Given the description of an element on the screen output the (x, y) to click on. 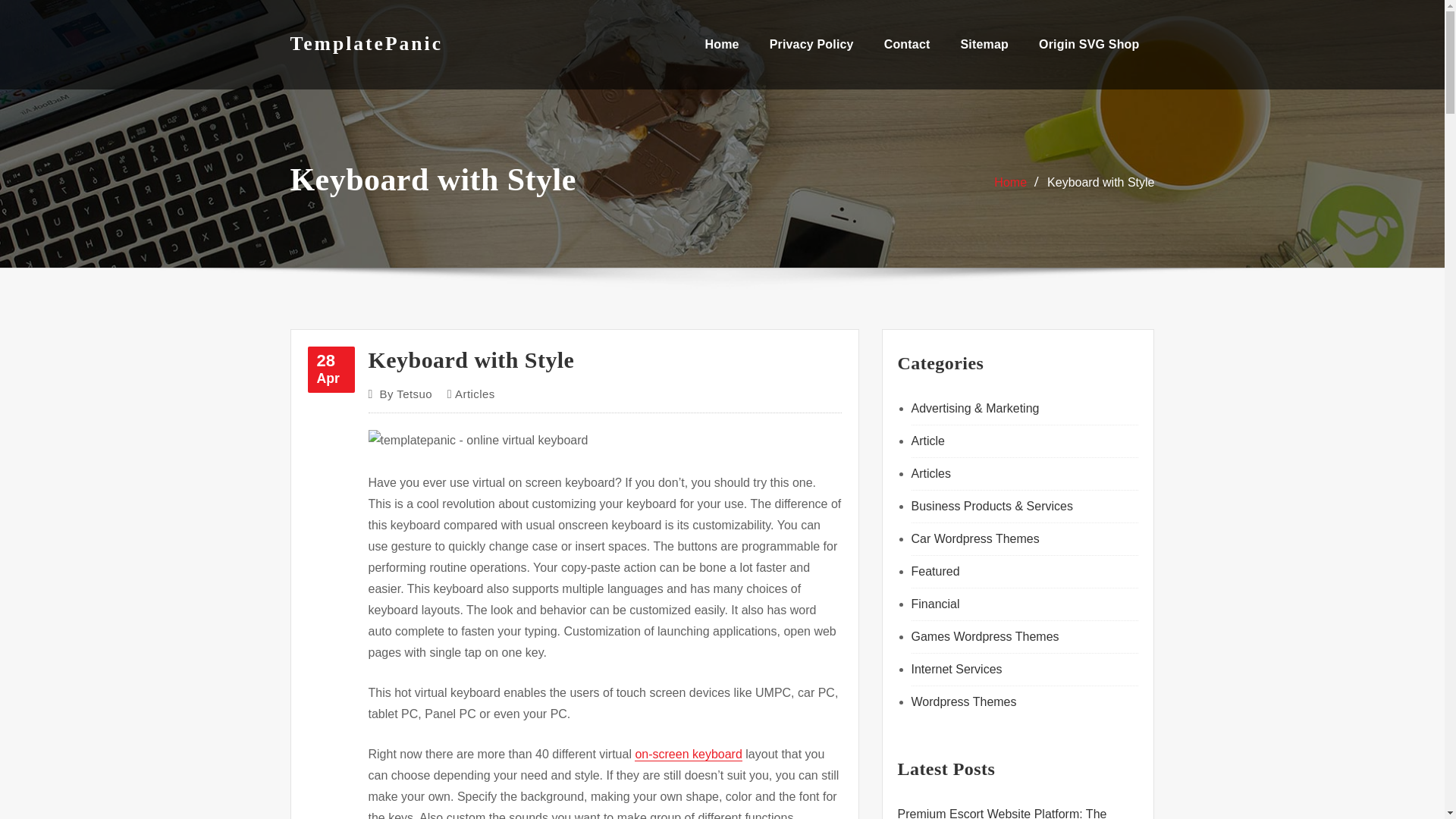
on-screen keyboard (687, 753)
Home (1010, 182)
Keyboard with Style (1100, 182)
Articles (474, 394)
Car Wordpress Themes (975, 538)
Origin SVG Shop (330, 369)
Featured (1088, 44)
Wordpress Themes (935, 571)
